Given the description of an element on the screen output the (x, y) to click on. 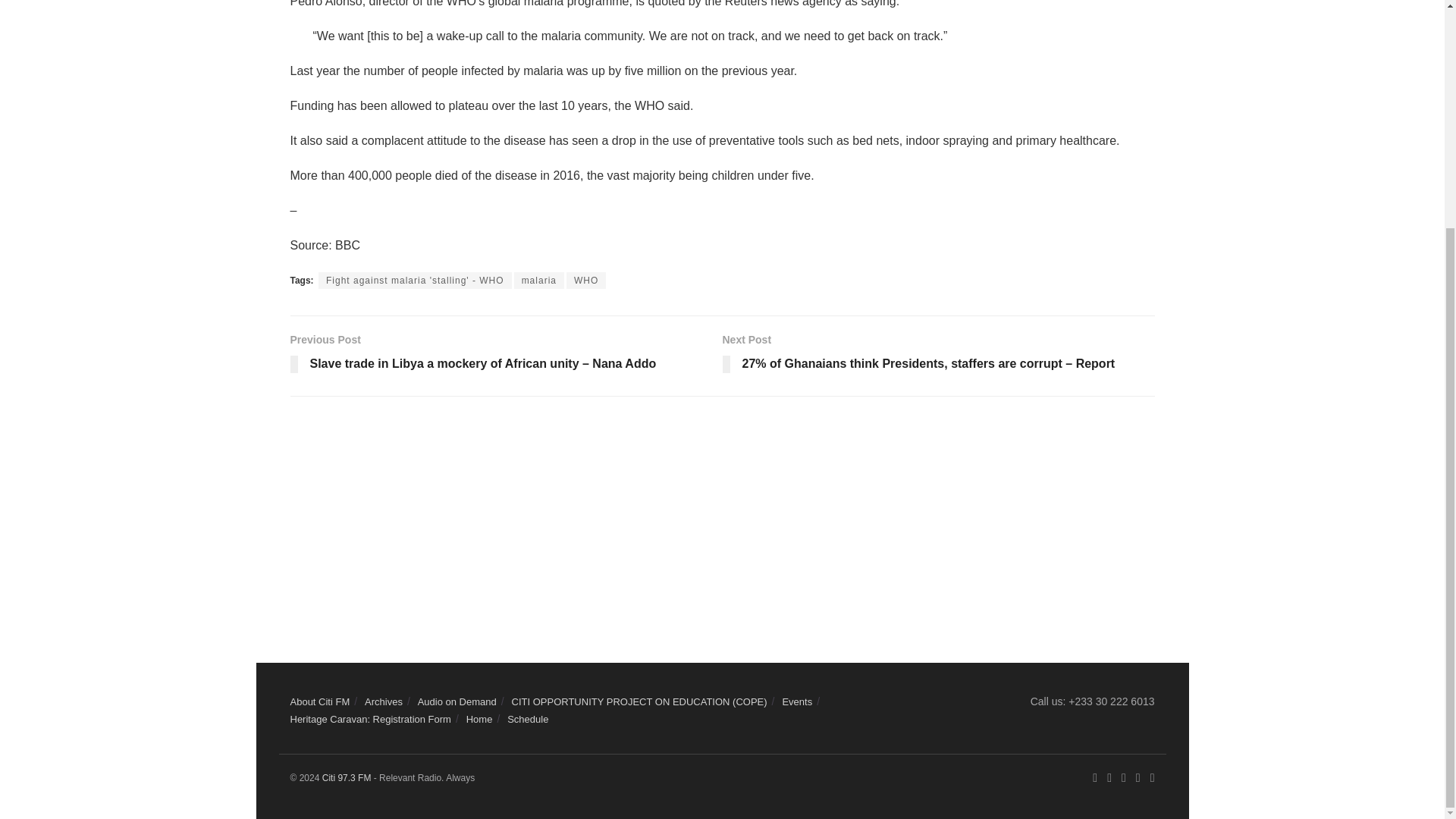
Citi 97.3 FM (346, 777)
WHO (585, 280)
malaria (538, 280)
Fight against malaria 'stalling' - WHO (415, 280)
